Given the description of an element on the screen output the (x, y) to click on. 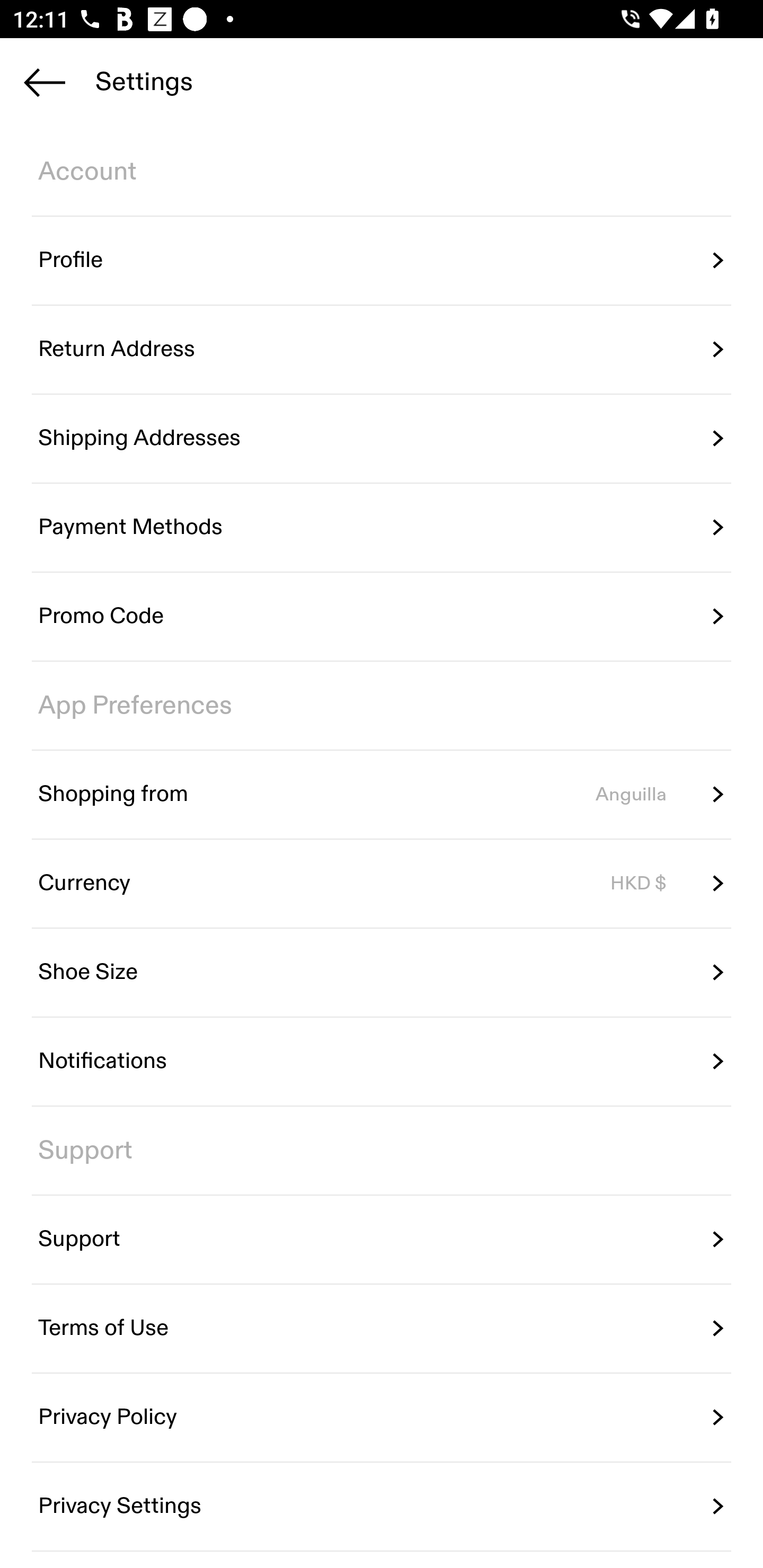
Navigate up (44, 82)
Profile (381, 260)
Return Address (381, 349)
Shipping Addresses (381, 437)
Payment Methods (381, 527)
Promo Code (381, 616)
Shopping from Anguilla (381, 793)
Currency HKD $ (381, 883)
Shoe Size (381, 972)
Notifications (381, 1061)
Support (381, 1239)
Terms of Use (381, 1328)
Privacy Policy (381, 1417)
Privacy Settings (381, 1505)
